Given the description of an element on the screen output the (x, y) to click on. 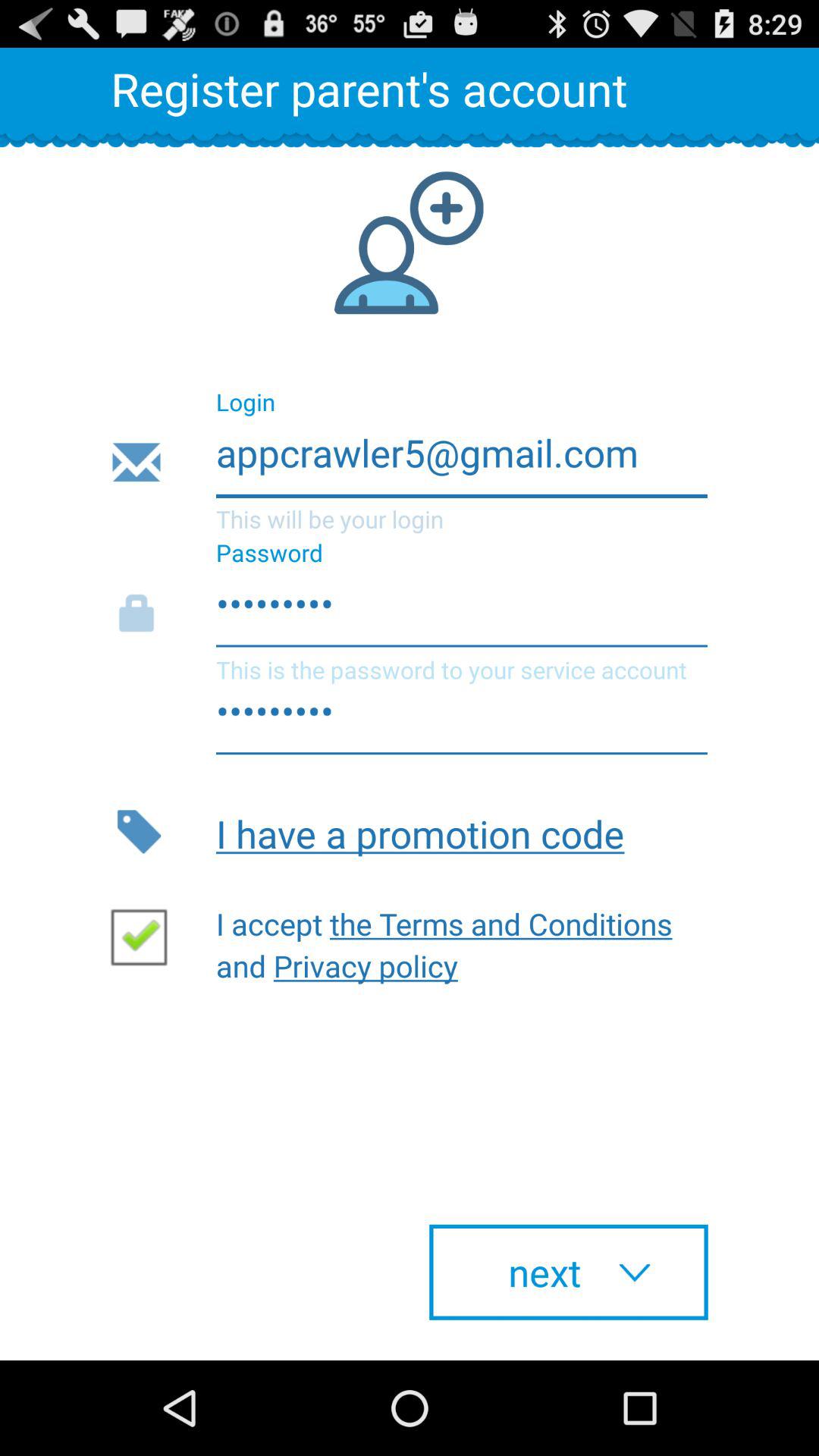
open the item to the left of i accept the icon (145, 936)
